Given the description of an element on the screen output the (x, y) to click on. 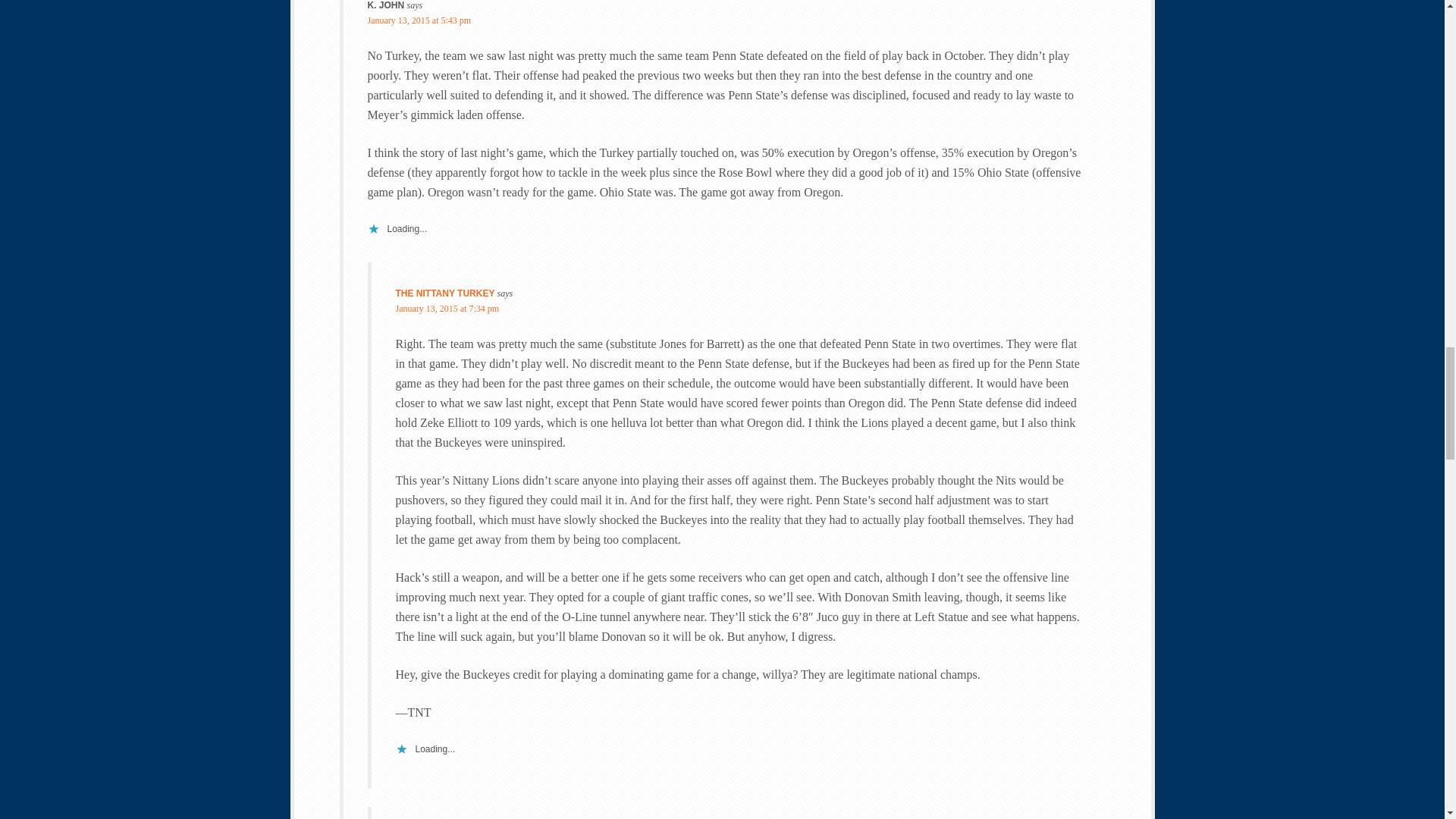
January 13, 2015 at 5:43 pm (418, 20)
